Given the description of an element on the screen output the (x, y) to click on. 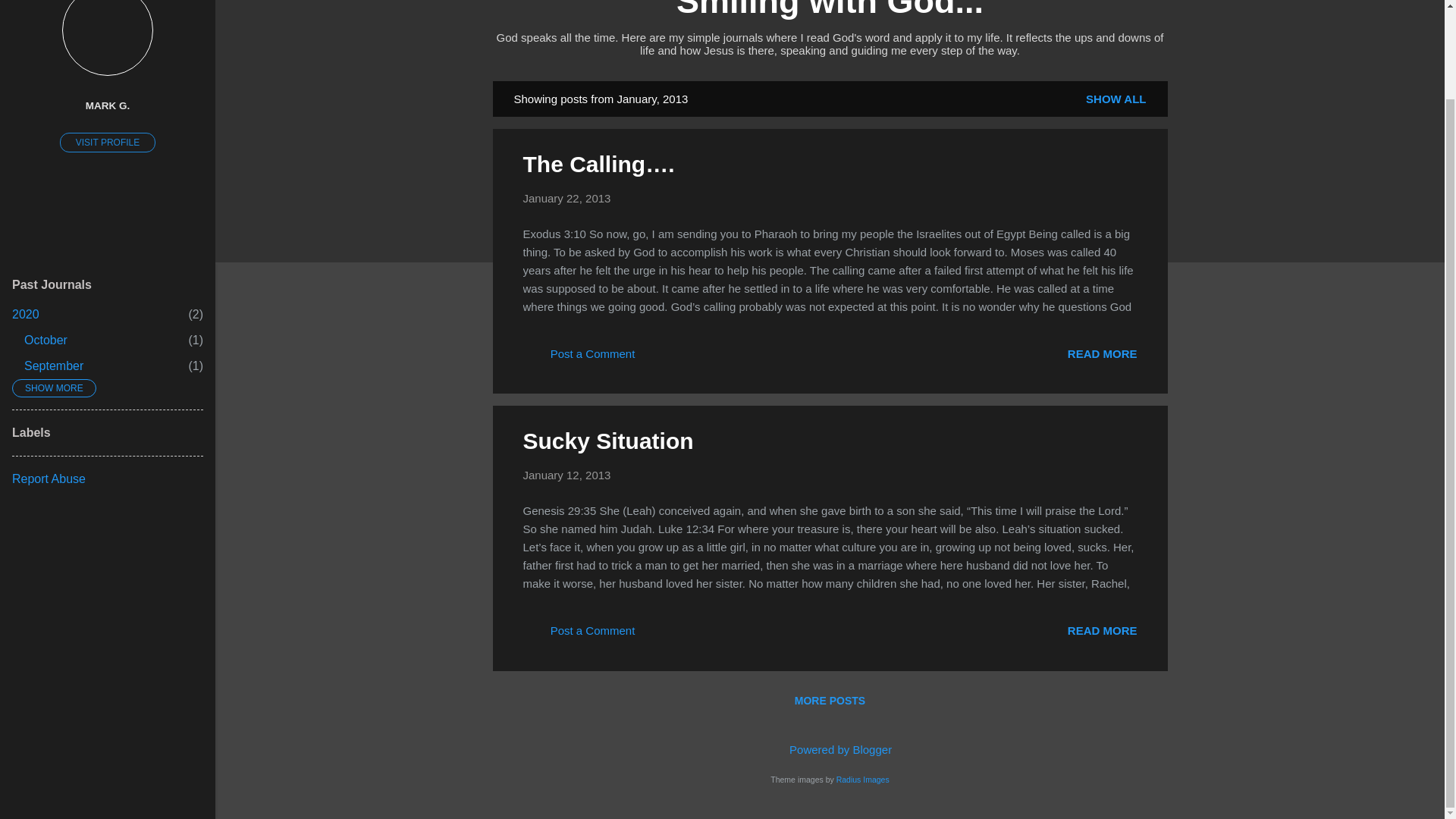
permanent link (566, 197)
Powered by Blogger (829, 748)
READ MORE (45, 339)
Sucky Situation (53, 365)
SHOW ALL (1102, 630)
January 12, 2013 (608, 440)
permanent link (1115, 98)
MORE POSTS (566, 474)
